Given the description of an element on the screen output the (x, y) to click on. 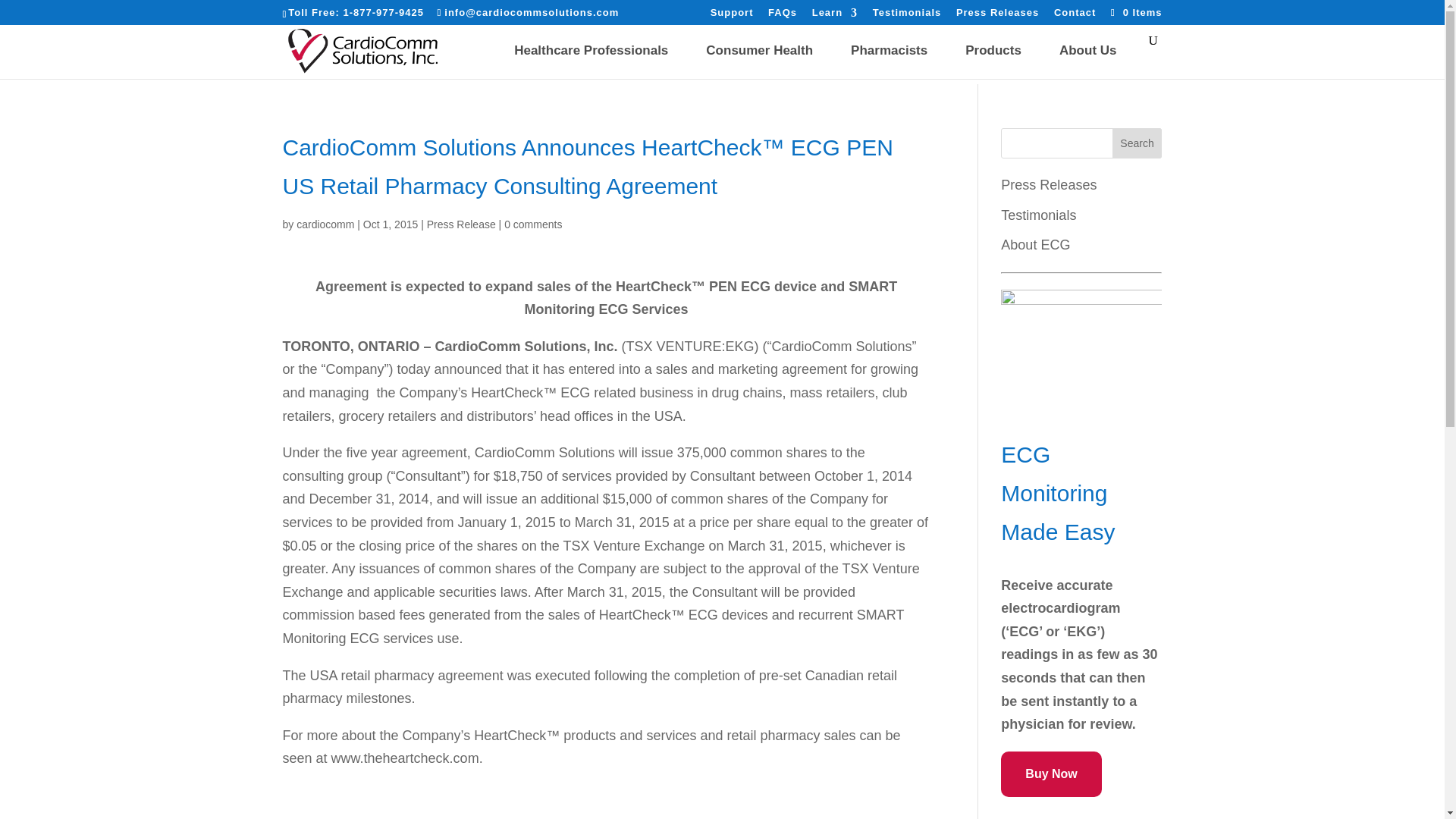
Consumer Health (759, 50)
Search (1136, 142)
Press Release (461, 224)
1-877-977-9425 (382, 12)
Pharmacists (888, 50)
Search (1136, 142)
Buy Now (1050, 774)
0 Items (1133, 12)
About Us (1087, 50)
Press Releases (997, 16)
Learn (834, 16)
Testimonials (907, 16)
Products (993, 50)
cardiocomm (325, 224)
Testimonials (1038, 215)
